Given the description of an element on the screen output the (x, y) to click on. 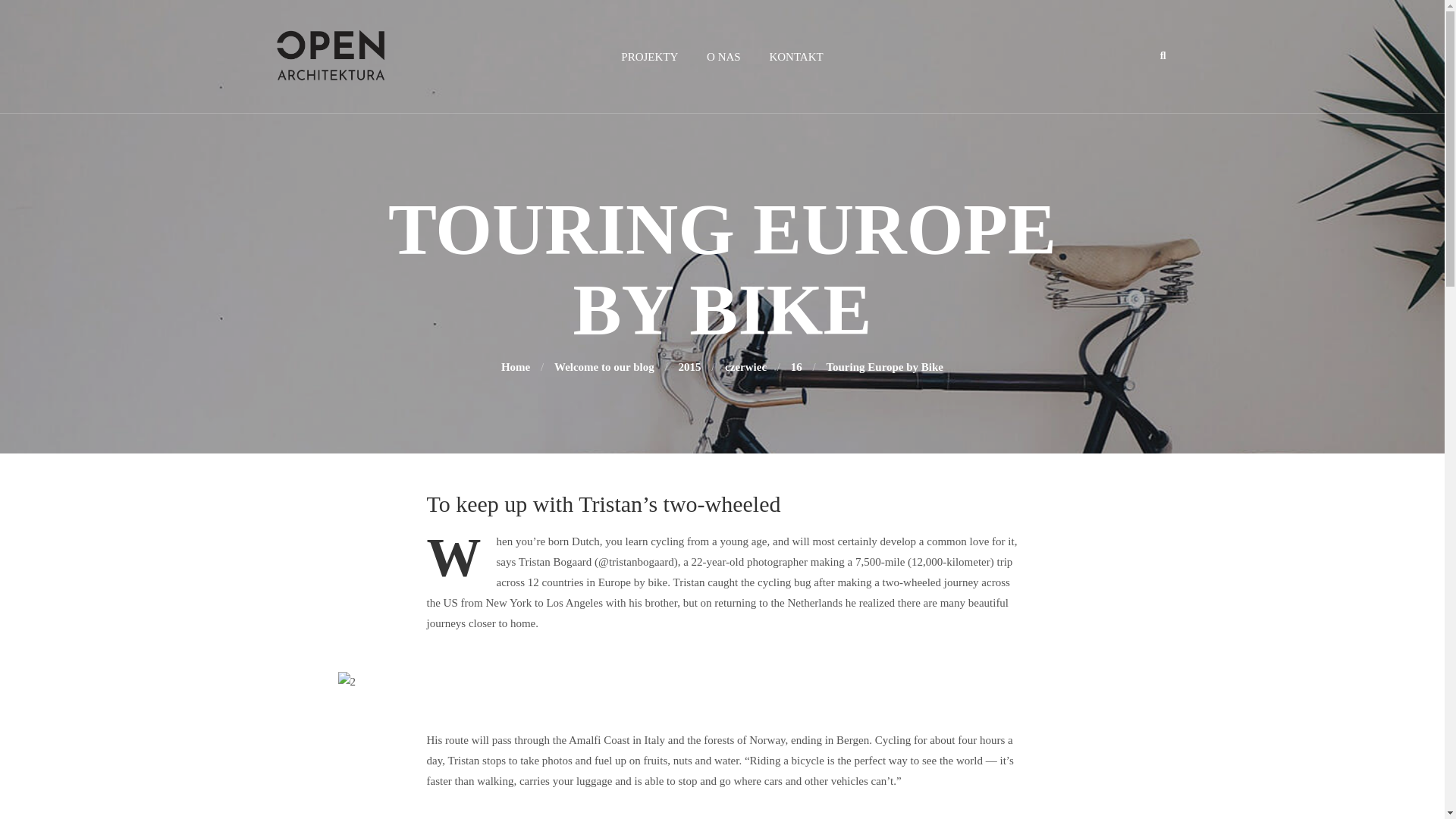
O NAS (723, 56)
Home (514, 367)
Welcome to our blog (603, 367)
KONTAKT (796, 56)
czerwiec (746, 367)
16 (796, 367)
PROJEKTY (649, 56)
OPEN Architektura (514, 367)
Szukaj (45, 18)
2015 (689, 367)
